Given the description of an element on the screen output the (x, y) to click on. 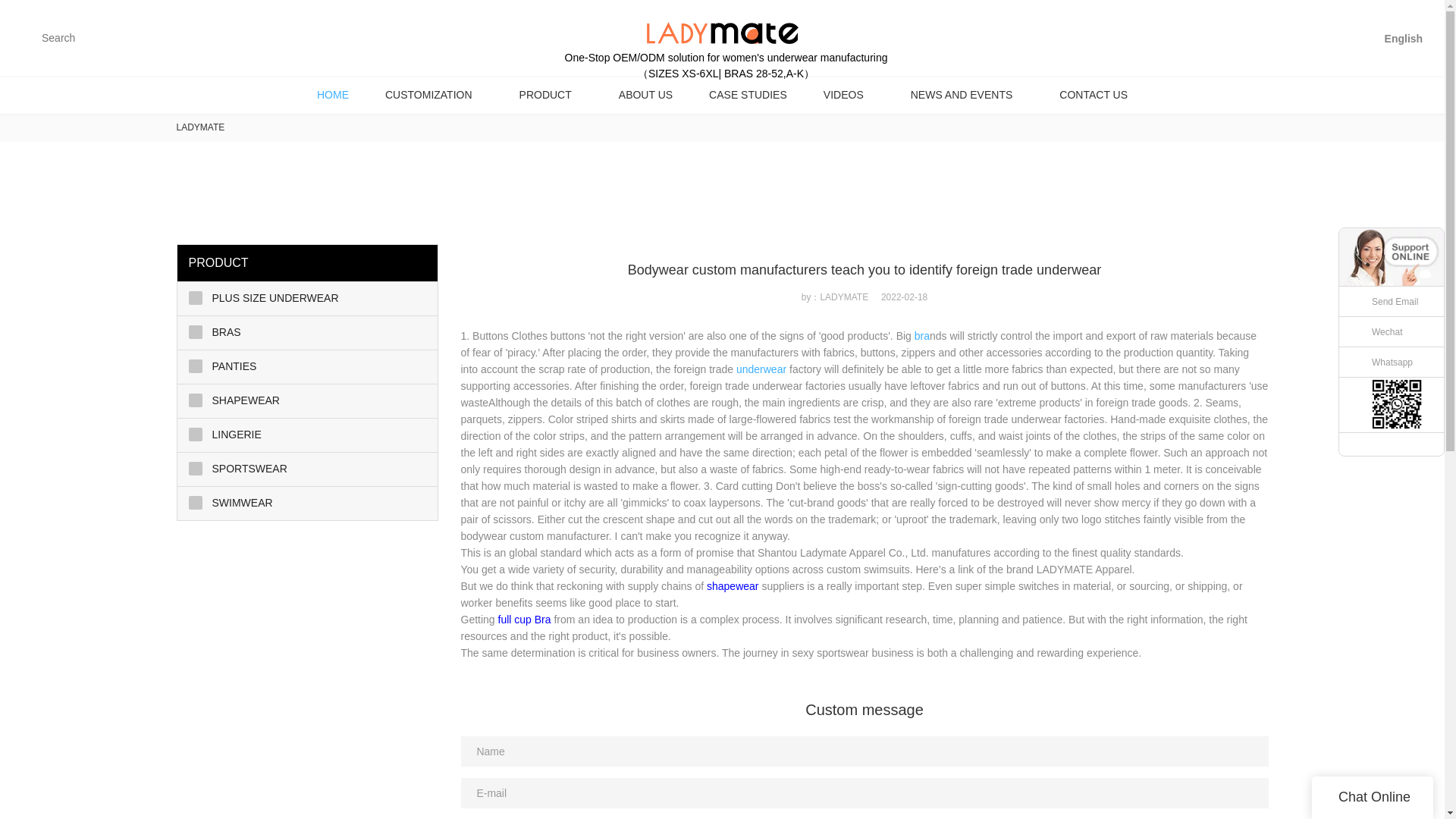
Whatsapp (1391, 362)
Wechat (1391, 331)
CUSTOMIZATION (433, 94)
HOME (332, 94)
PRODUCT (549, 94)
Send Email (1391, 301)
